Given the description of an element on the screen output the (x, y) to click on. 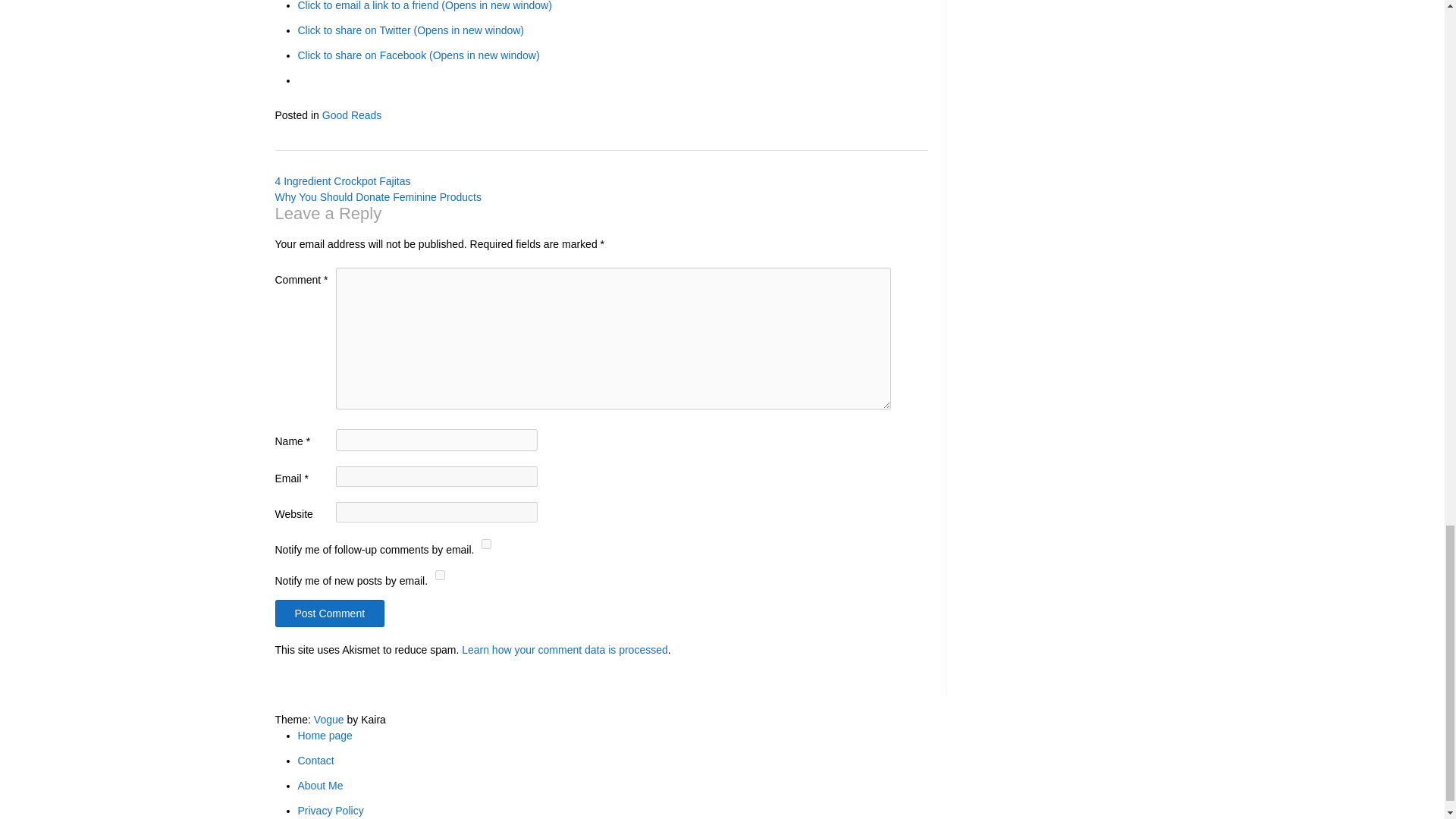
Click to share on Facebook (417, 55)
subscribe (440, 574)
Post Comment (329, 613)
Click to share on Twitter (410, 30)
Post Comment (329, 613)
Learn how your comment data is processed (564, 649)
Click to email a link to a friend (424, 5)
4 Ingredient Crockpot Fajitas (342, 181)
Why You Should Donate Feminine Products (377, 196)
subscribe (486, 543)
